Given the description of an element on the screen output the (x, y) to click on. 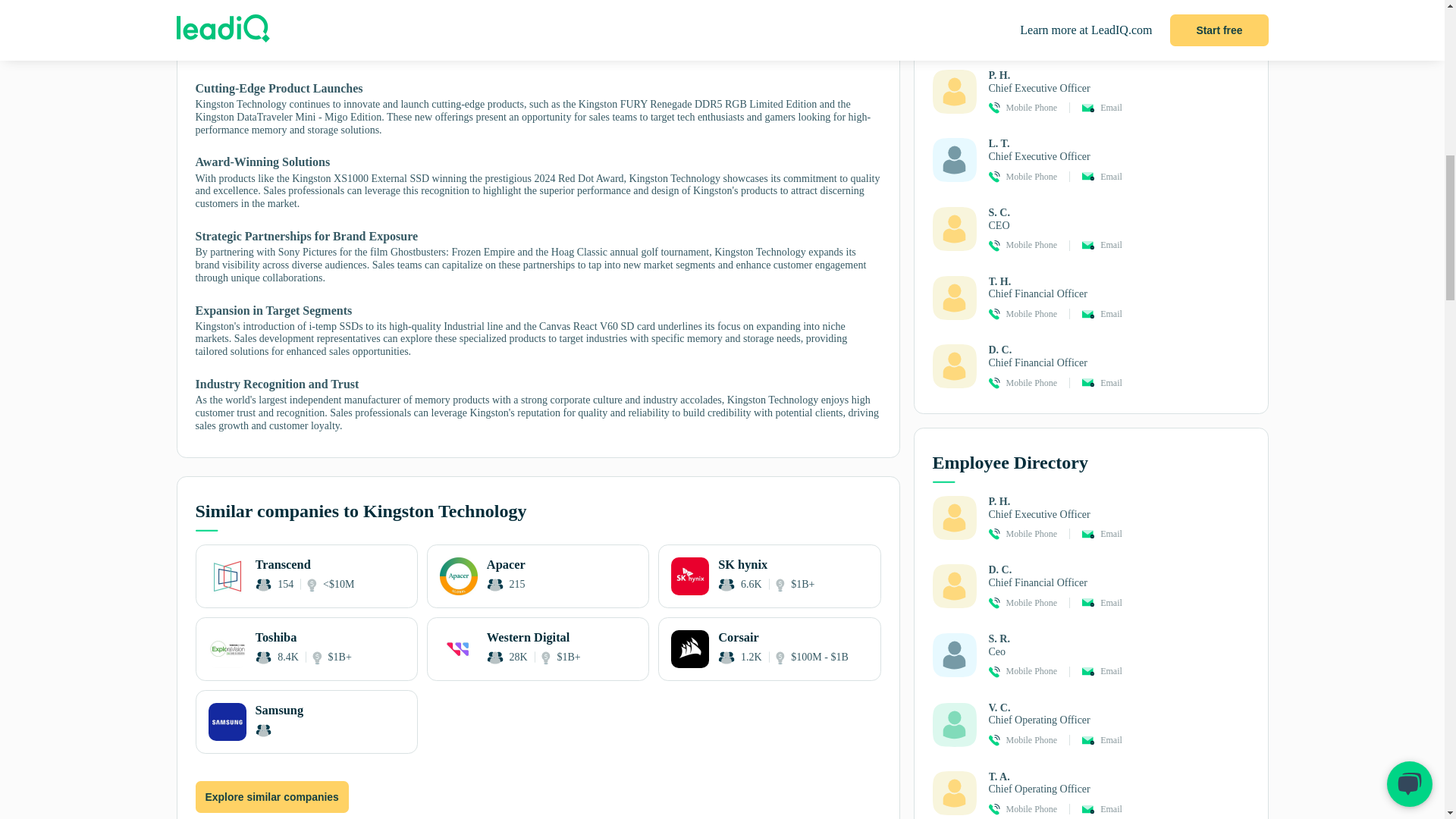
Explore similar companies (272, 797)
Explore similar companies (272, 797)
Samsung (306, 721)
